Given the description of an element on the screen output the (x, y) to click on. 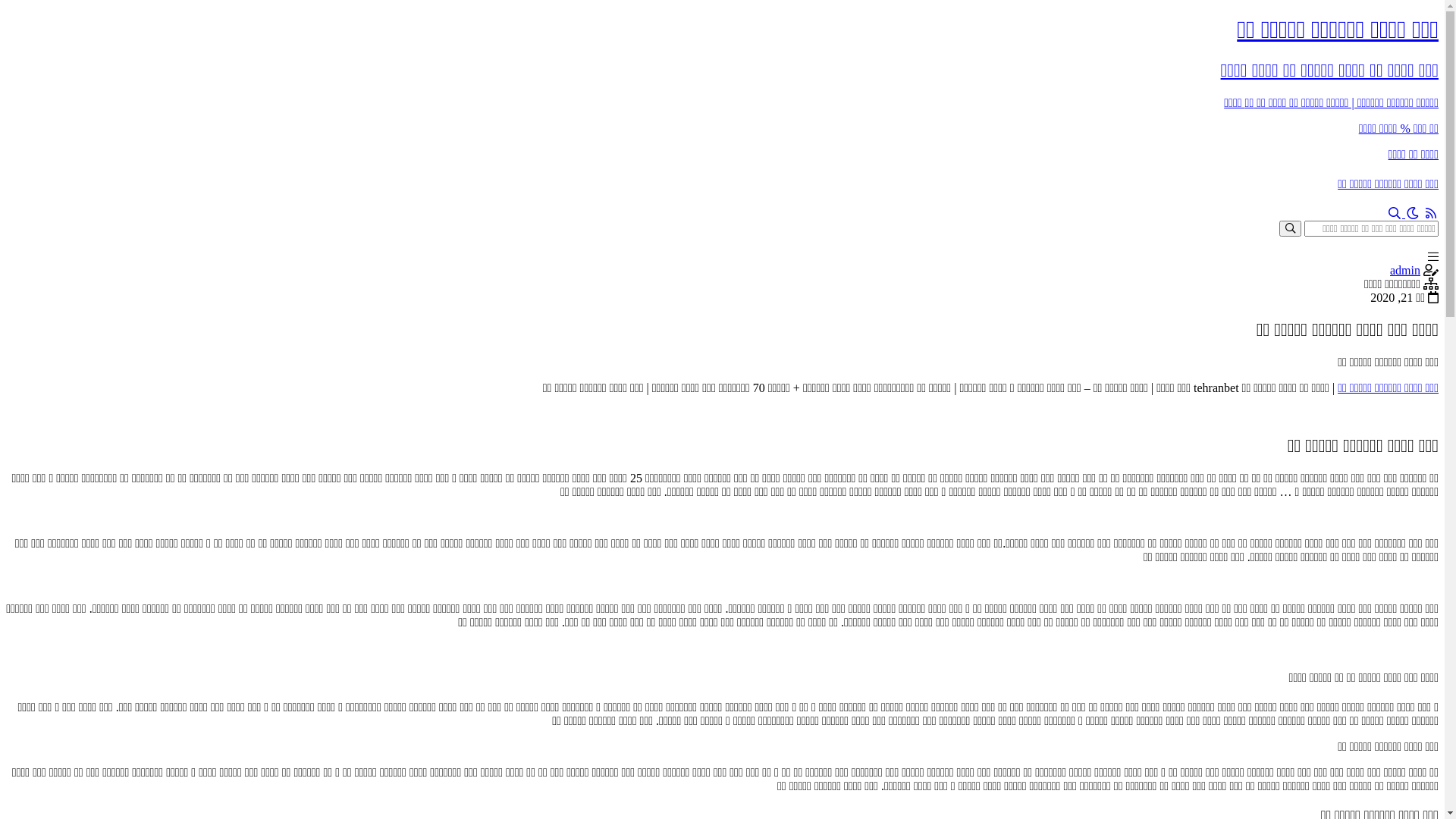
admin Element type: text (1405, 269)
